Given the description of an element on the screen output the (x, y) to click on. 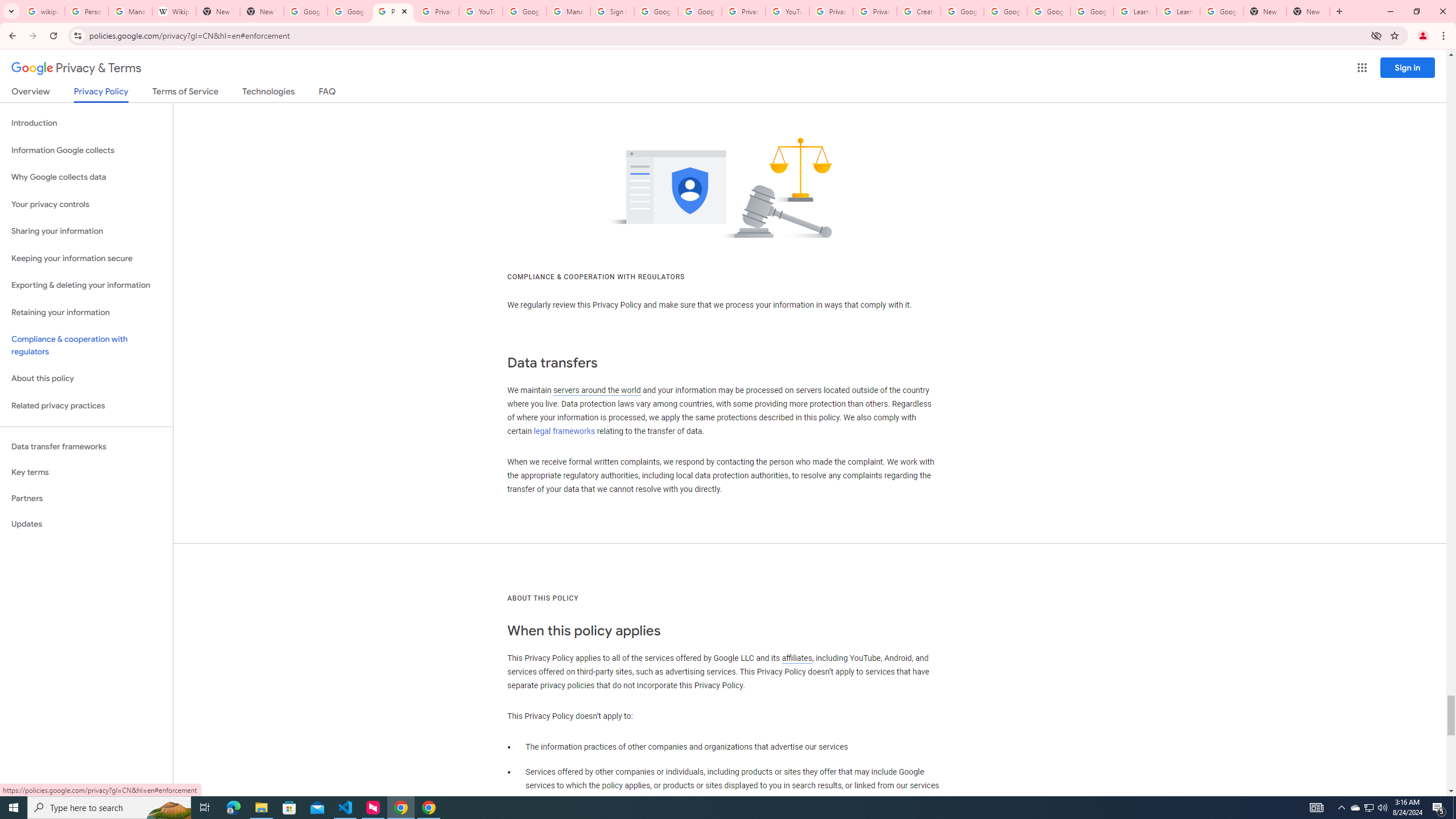
Introduction (86, 122)
Your privacy controls (86, 204)
Create your Google Account (918, 11)
Privacy & Terms (76, 68)
YouTube (481, 11)
Manage your Location History - Google Search Help (130, 11)
Sign in - Google Accounts (612, 11)
Exporting & deleting your information (86, 284)
